Given the description of an element on the screen output the (x, y) to click on. 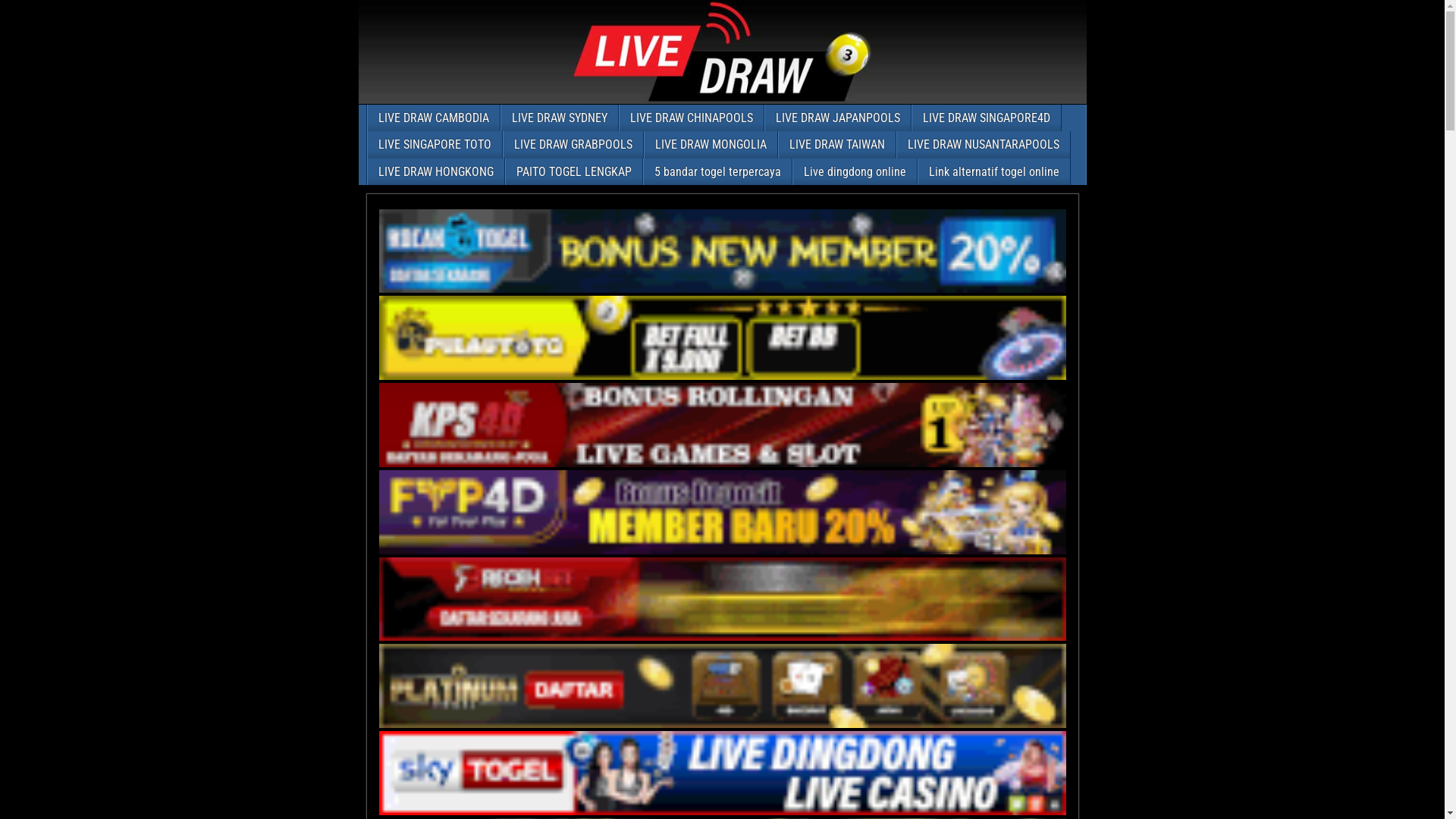
SKYTOGEL | BANDAR TOGEL TERLENGKAP Element type: hover (722, 773)
LIVE DRAW CAMBODIA Element type: text (432, 117)
LIVE DRAW CHINAPOOLS Element type: text (690, 117)
LIVE DRAW SYDNEY Element type: text (558, 117)
LIVE DRAW TAIWAN Element type: text (836, 144)
LIVE DRAW GRABPOOLS Element type: text (573, 144)
LIVE DRAW JAPANPOOLS Element type: text (837, 117)
5 bandar togel terpercaya Element type: text (716, 171)
Link alternatif togel online Element type: text (993, 171)
KPS4D | SITUS JUDI SLOT ONLINE Element type: hover (722, 424)
LIVE DRAW NUSANTARAPOOLS Element type: text (982, 144)
LIVE DRAW SINGAPORE4D Element type: text (985, 117)
LIVE SINGAPORE TOTO Element type: text (434, 144)
RECEHBET | BANDAR SLOT ONLINE Element type: hover (722, 599)
PULAUTOTO | BANDAR TOGEL ONLINE RESMI Element type: hover (722, 337)
PLATINUMTOGEL | BANDAR TOGEL TERPERCAYA Element type: hover (722, 685)
LIVE DRAW HONGKONG Element type: text (435, 171)
KOCAKTOGEL | BANDAR TOTO MACAU Element type: hover (722, 251)
PAITO TOGEL LENGKAP Element type: text (573, 171)
Live dingdong online Element type: text (854, 171)
LIVE DRAW MONGOLIA Element type: text (710, 144)
FYP4D | AGEN JUDI SLOT GACOR Element type: hover (722, 512)
